Given the description of an element on the screen output the (x, y) to click on. 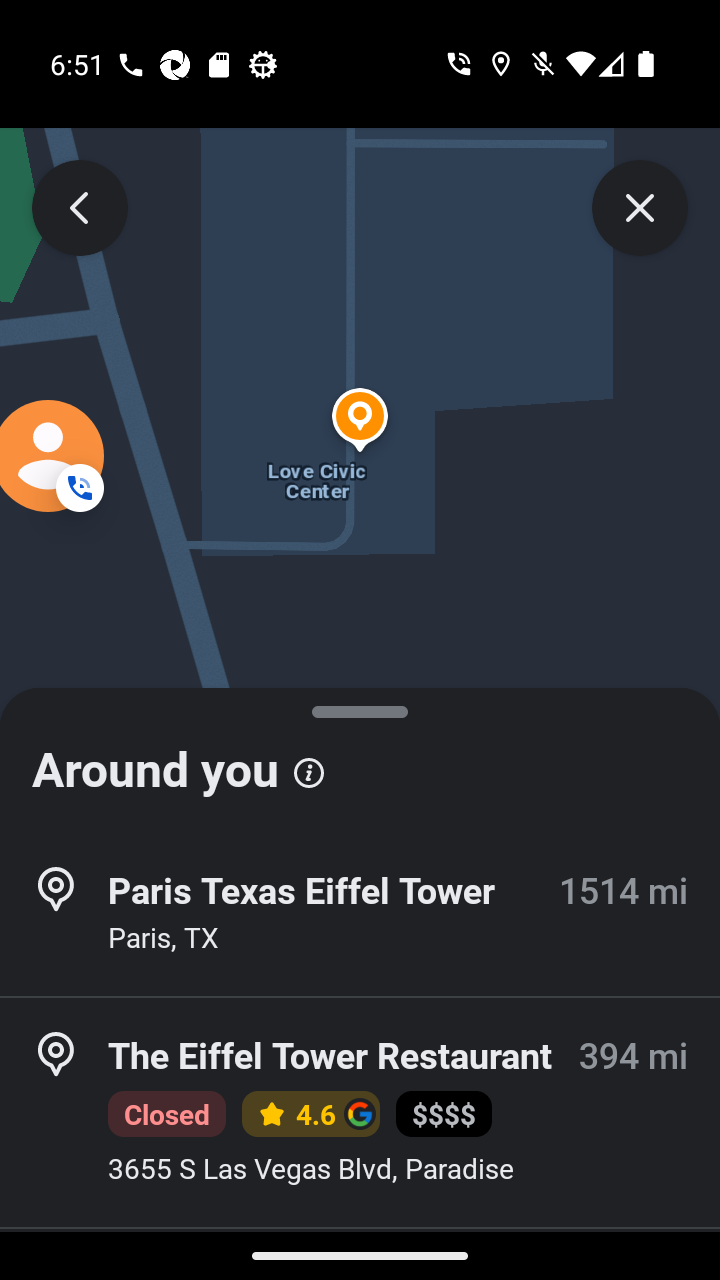
Around you (360, 760)
Paris Texas Eiffel Tower 1514 mi Paris, TX (360, 914)
Eiffel Tower Park 1864 mi (360, 1254)
